Given the description of an element on the screen output the (x, y) to click on. 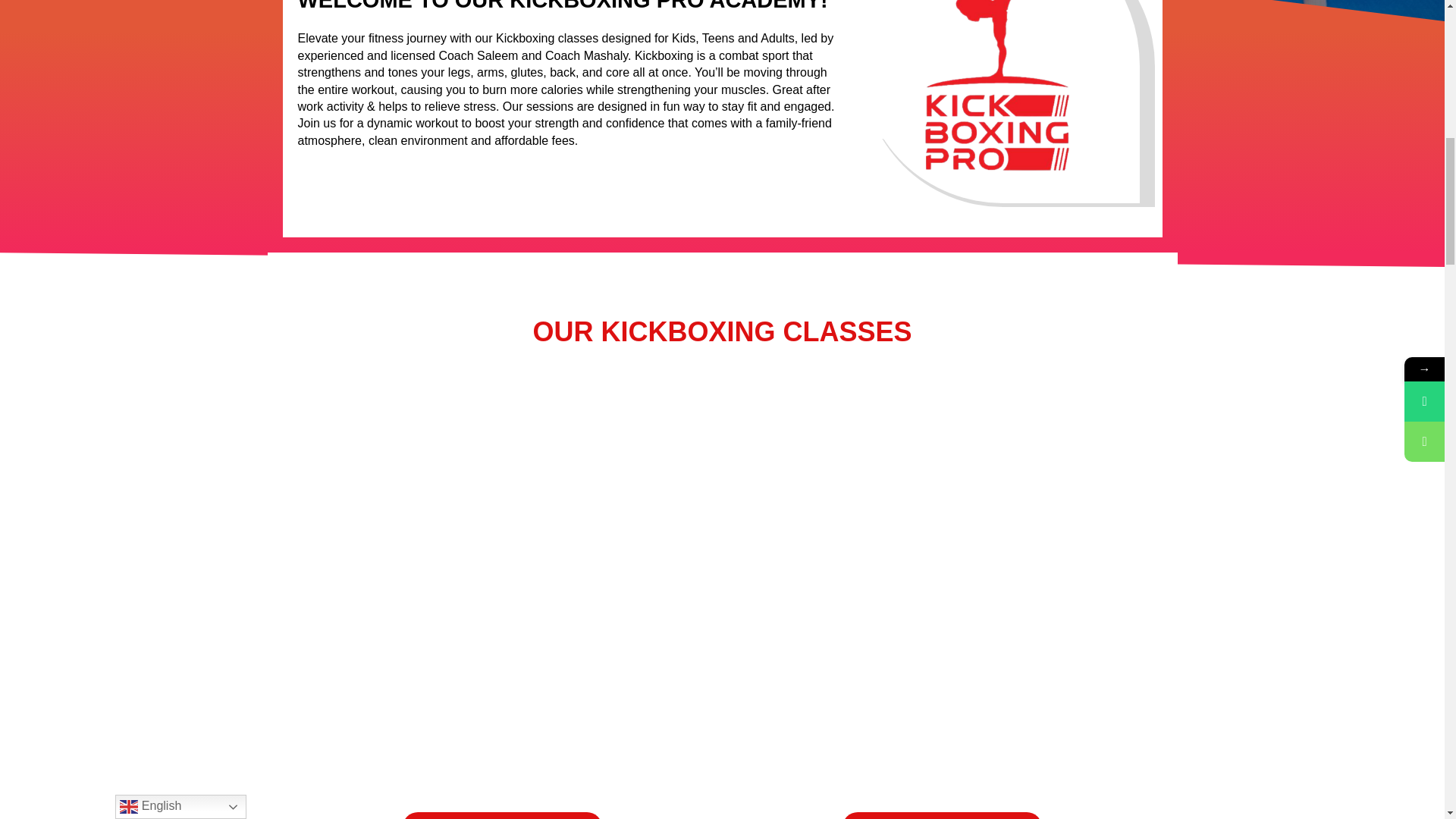
BOOK YOUR FREE TRIALS (942, 815)
BOOK YOUR FREE TRIALS (502, 815)
